Given the description of an element on the screen output the (x, y) to click on. 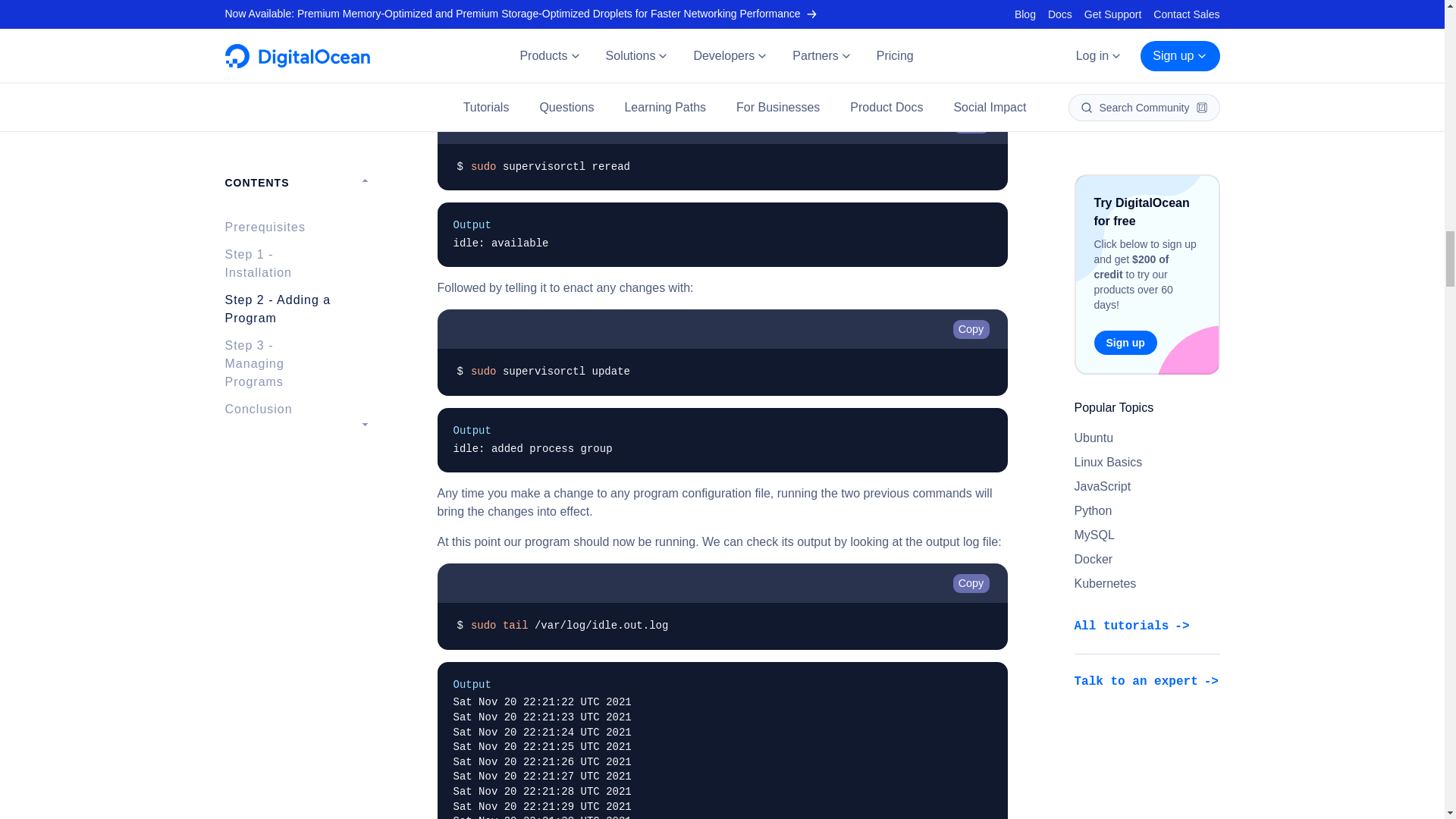
Output (721, 225)
